Given the description of an element on the screen output the (x, y) to click on. 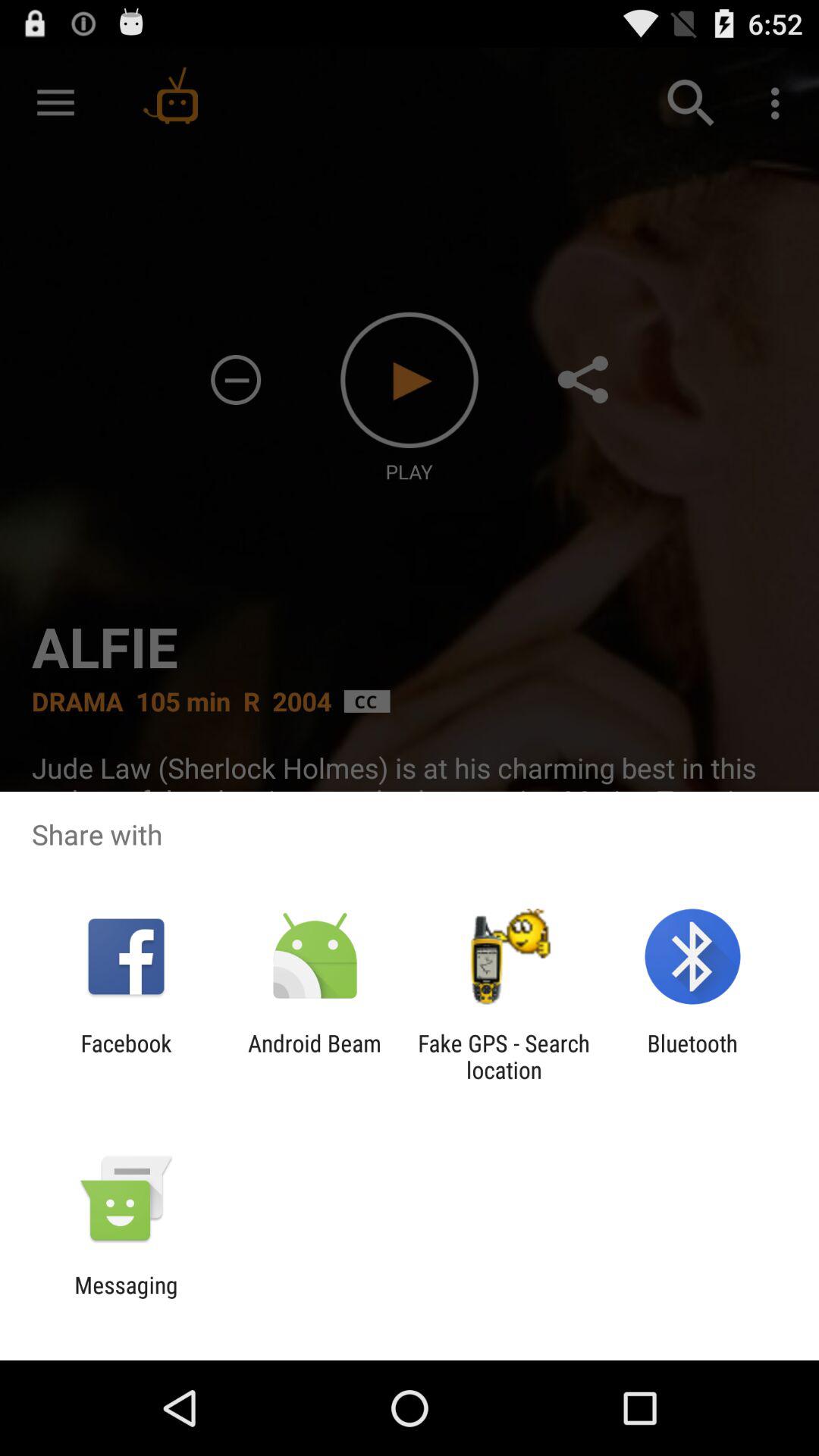
jump to messaging (126, 1298)
